Given the description of an element on the screen output the (x, y) to click on. 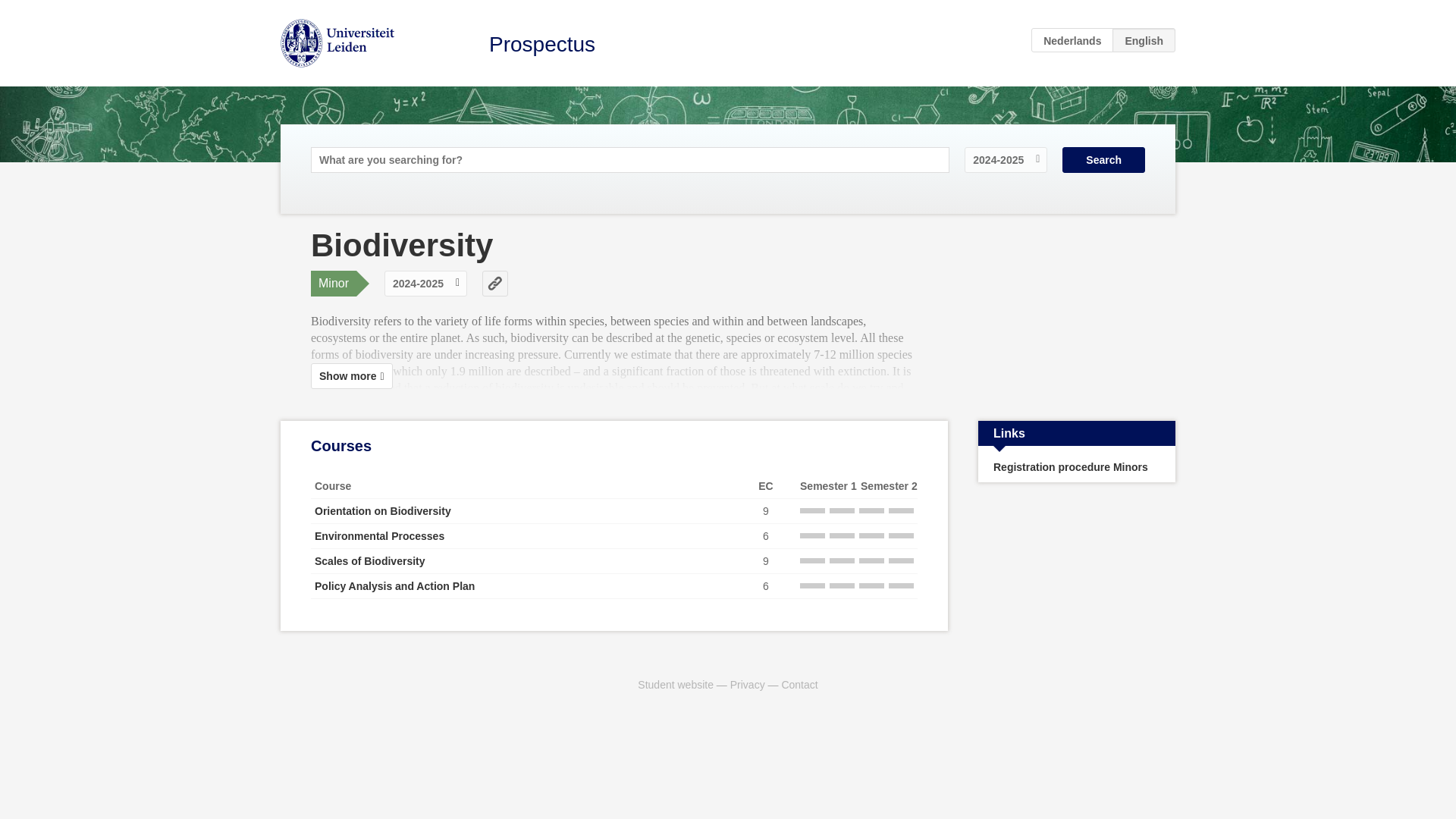
Student website (675, 684)
Search (1103, 159)
Privacy (747, 684)
Prospectus (542, 44)
Contact (798, 684)
Orientation on Biodiversity (382, 510)
Scales of Biodiversity (369, 561)
Environmental Processes (379, 535)
Policy Analysis and Action Plan (394, 585)
Show more (352, 376)
